Given the description of an element on the screen output the (x, y) to click on. 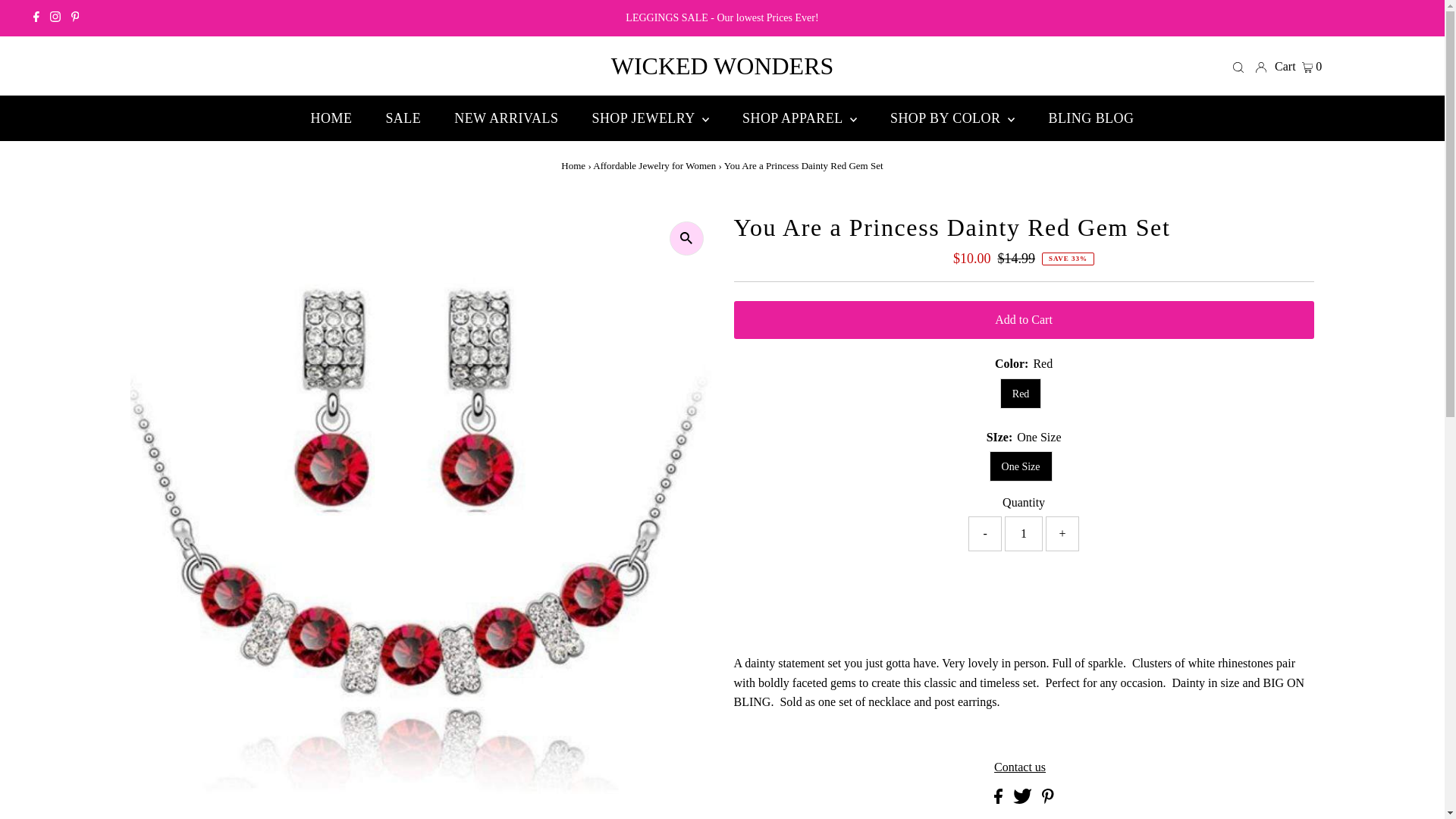
Click to zoom (685, 238)
HOME (331, 117)
1 (1023, 533)
SALE (402, 117)
WICKED WONDERS (722, 65)
NEW ARRIVALS (506, 117)
Home (572, 165)
Add to Cart (1023, 320)
Share on Pinterest (1048, 799)
Share on Twitter (1024, 799)
